Given the description of an element on the screen output the (x, y) to click on. 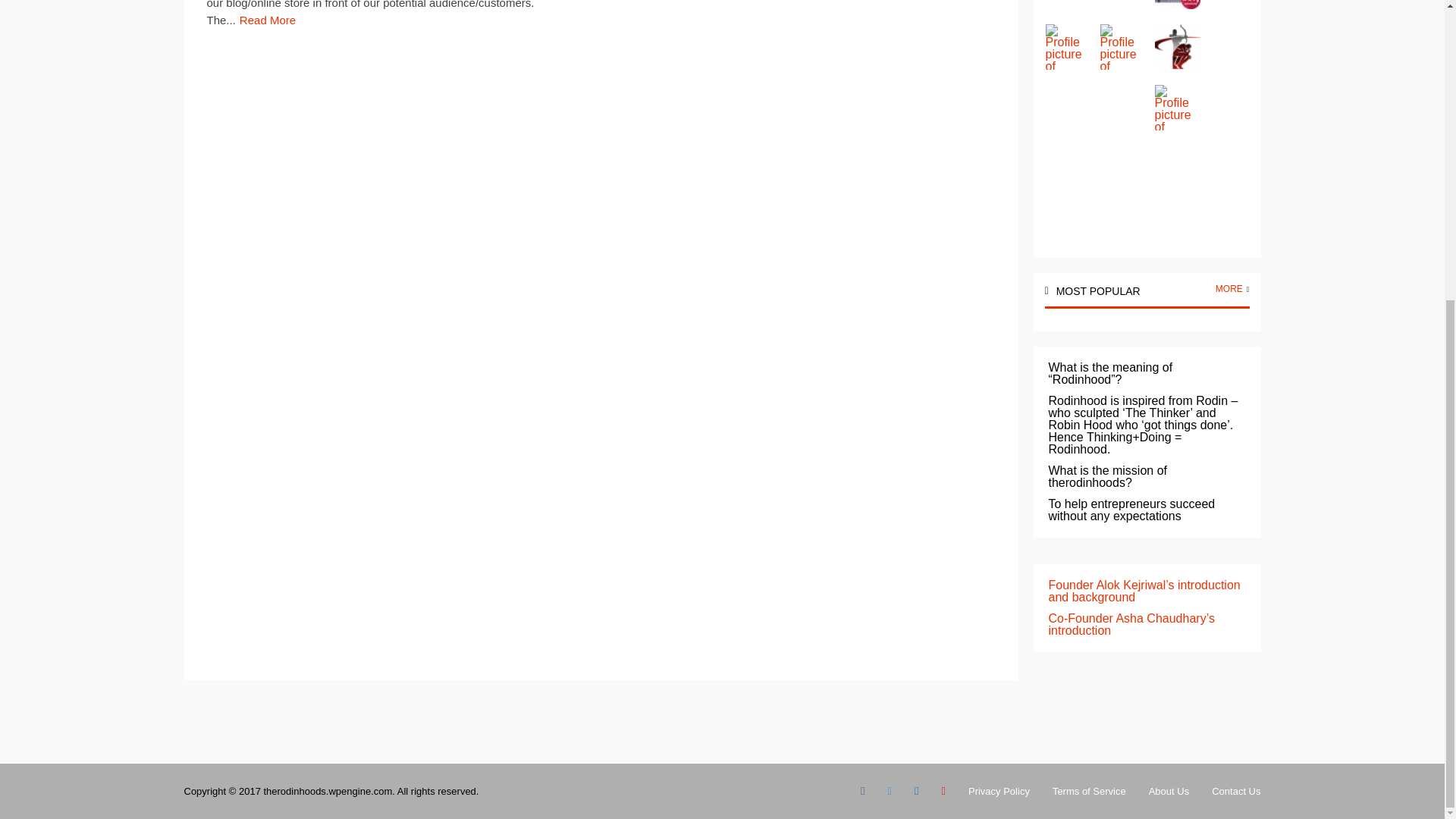
Read More (267, 19)
How Google ads might affect your organic ranking (267, 19)
MORE (1229, 288)
